Given the description of an element on the screen output the (x, y) to click on. 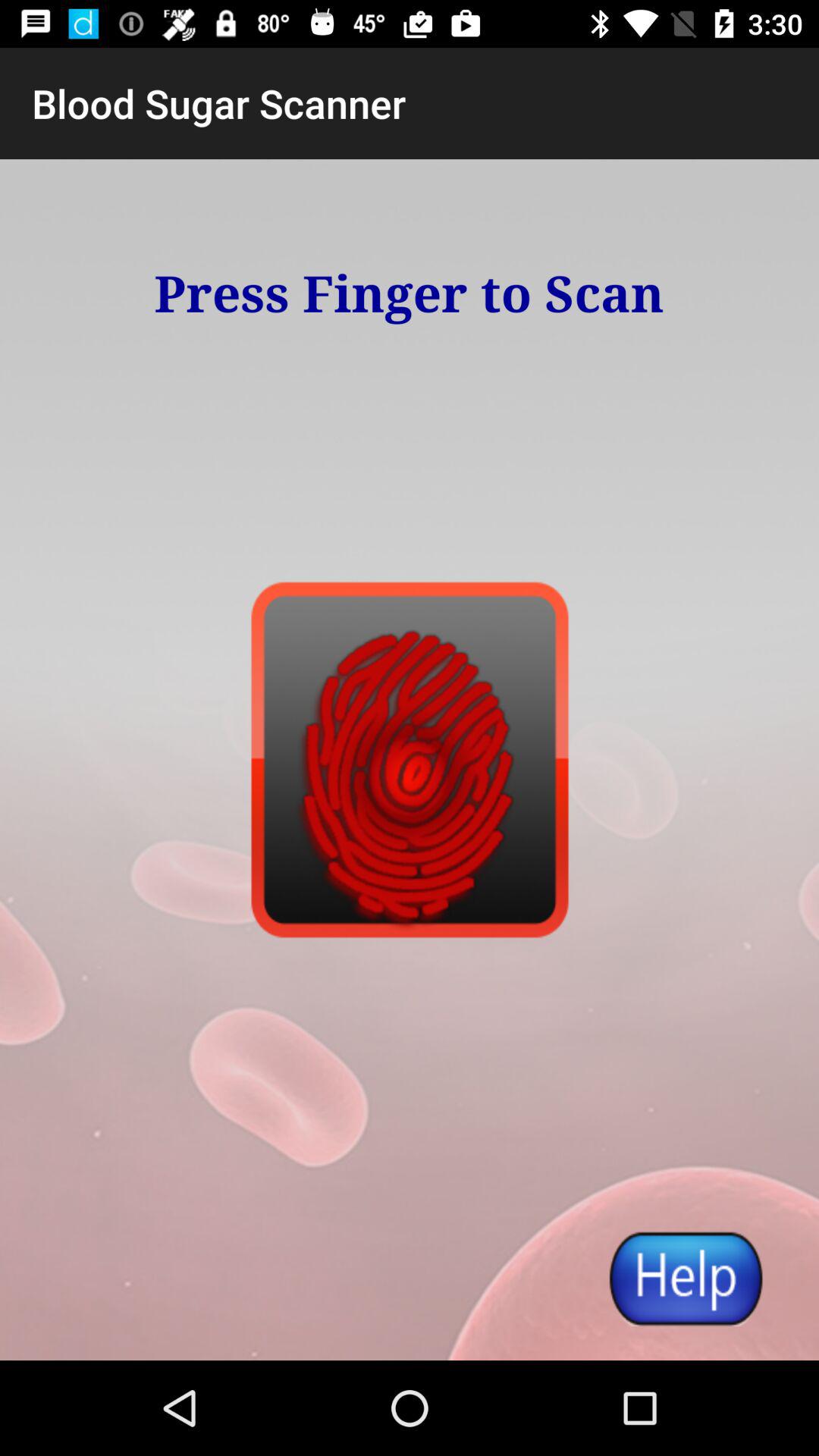
turn on the icon below press finger to app (684, 1278)
